Given the description of an element on the screen output the (x, y) to click on. 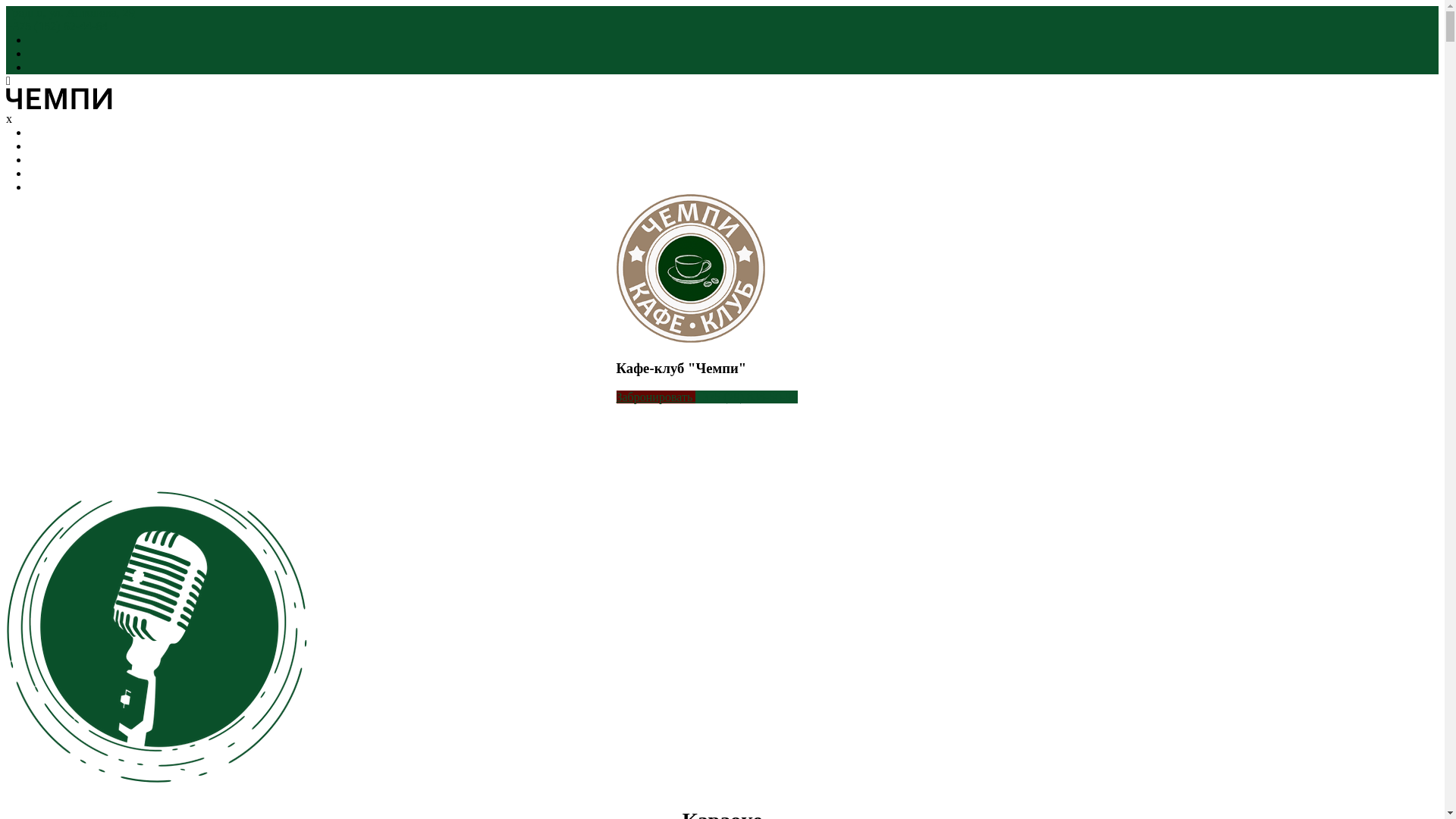
+375 (152) 62-44-64 Element type: text (56, 25)
+375 (29) 838-50-99 Element type: text (746, 396)
